Given the description of an element on the screen output the (x, y) to click on. 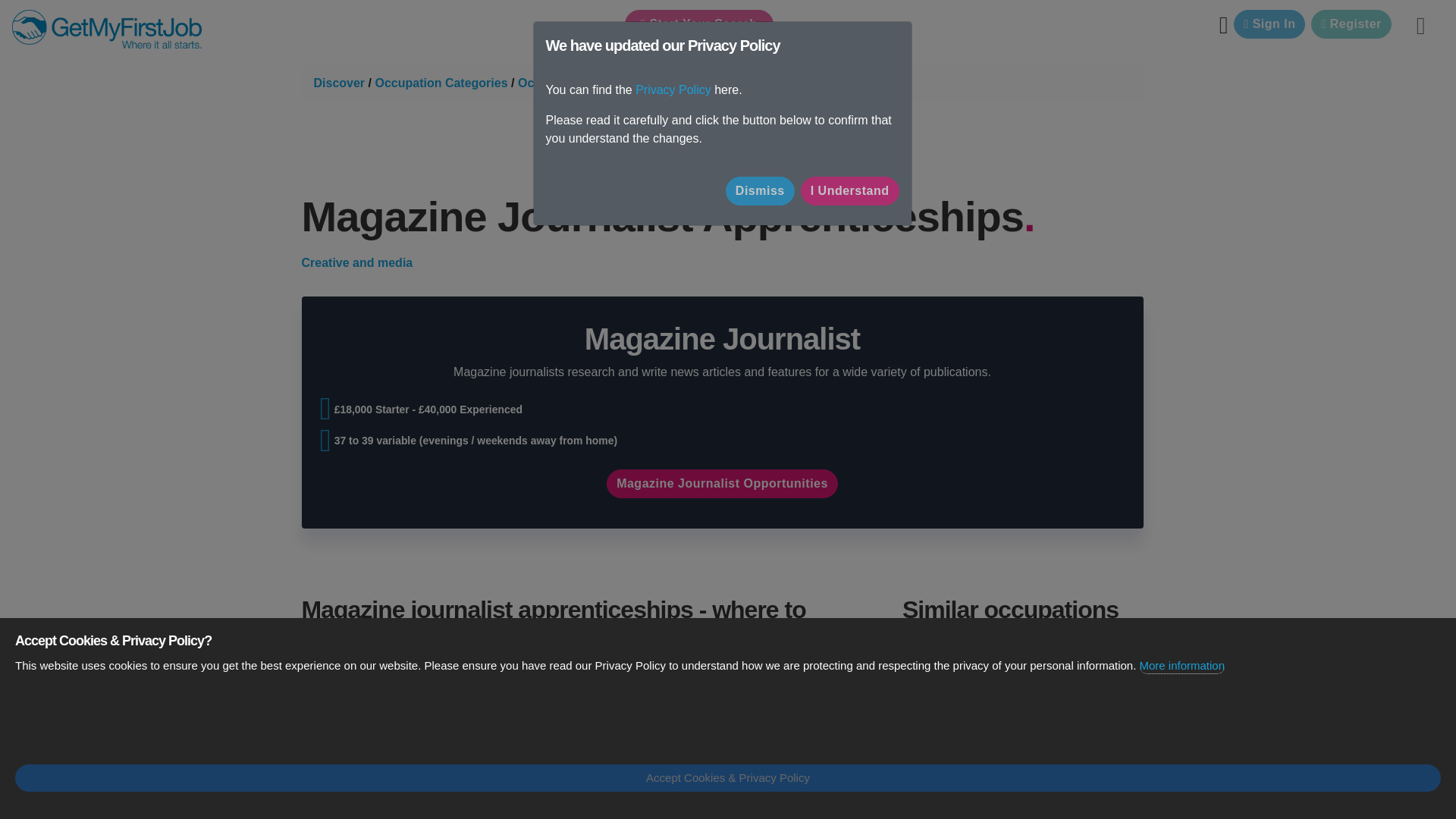
Discover (339, 82)
Sign In (1268, 23)
Creative and media (357, 262)
Occupation Categories (440, 82)
Register (1350, 23)
Creative and media (357, 262)
Find Out More (1010, 770)
Sign In (1268, 23)
Magazine Journalist Opportunities (722, 483)
Register (1350, 23)
